Given the description of an element on the screen output the (x, y) to click on. 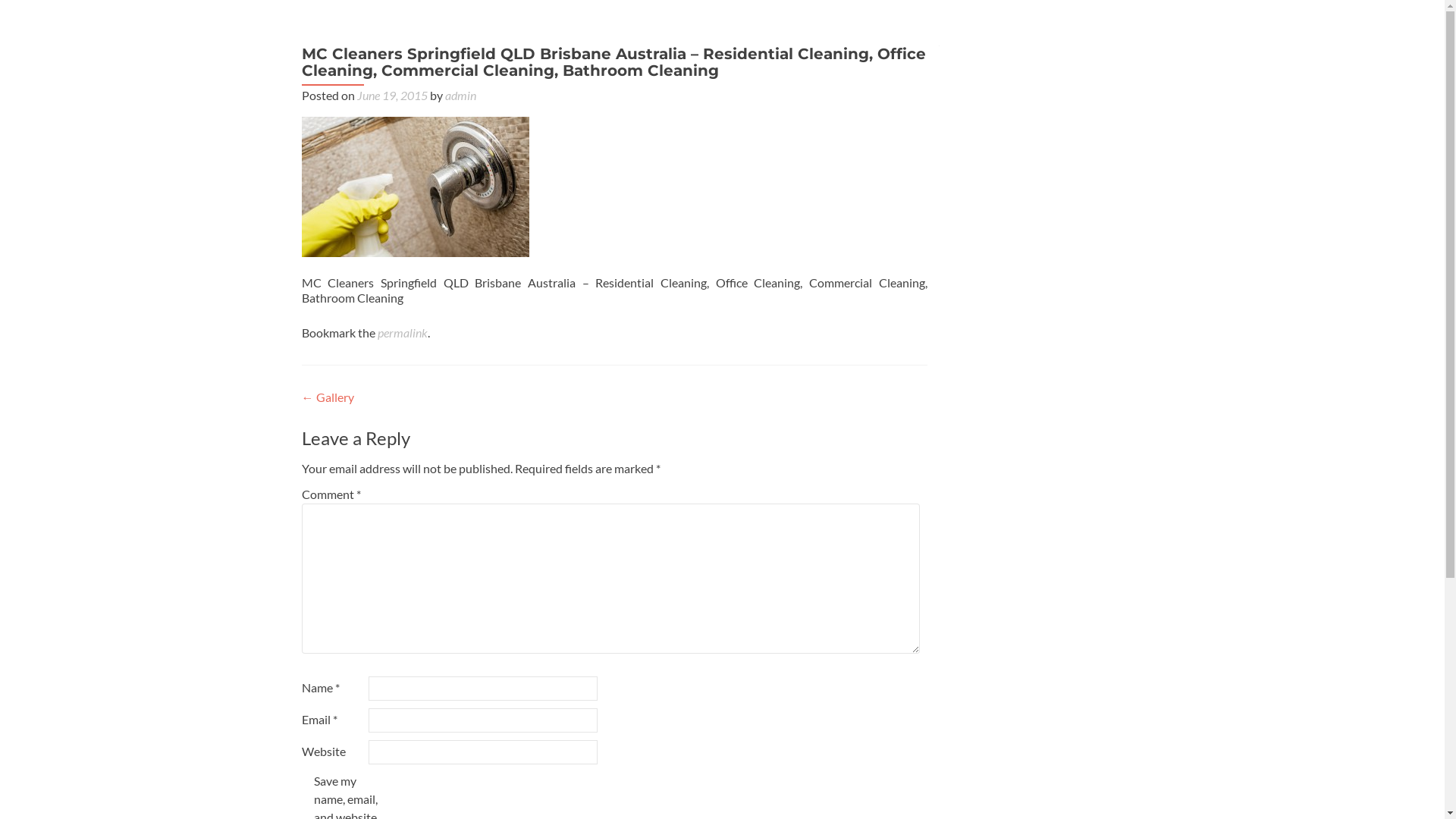
June 19, 2015 Element type: text (391, 94)
admin Element type: text (459, 94)
permalink Element type: text (402, 332)
